Given the description of an element on the screen output the (x, y) to click on. 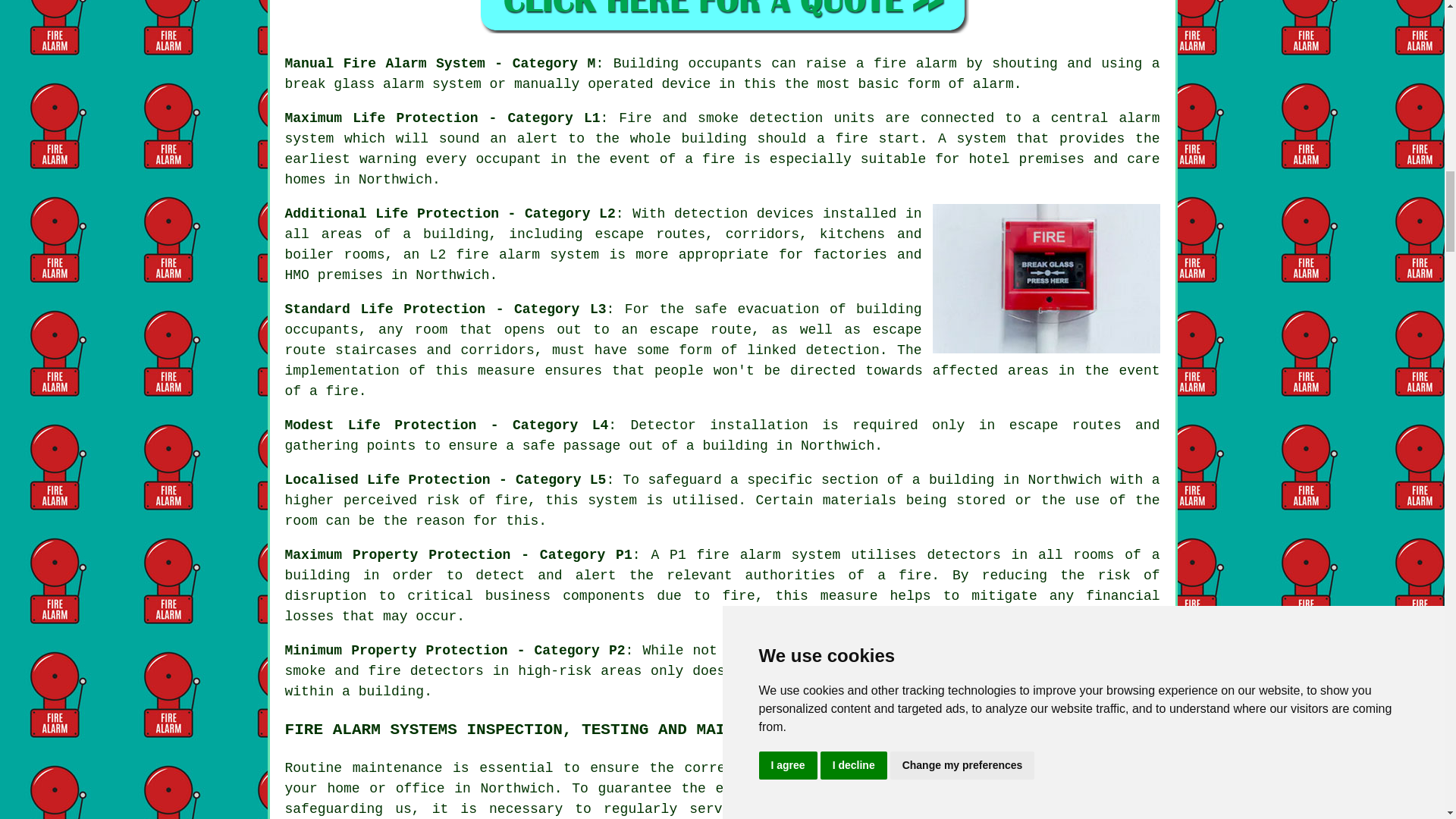
Fire Alarm Installation Near Northwich Cheshire (1046, 277)
safe evacuation (756, 309)
fire alarm system (769, 554)
Fire Alarm Installation Quotes in Northwich Cheshire (722, 16)
alarm system (548, 254)
fire safety and detection systems (995, 788)
detectors (446, 670)
a fire alarm system (960, 767)
